Given the description of an element on the screen output the (x, y) to click on. 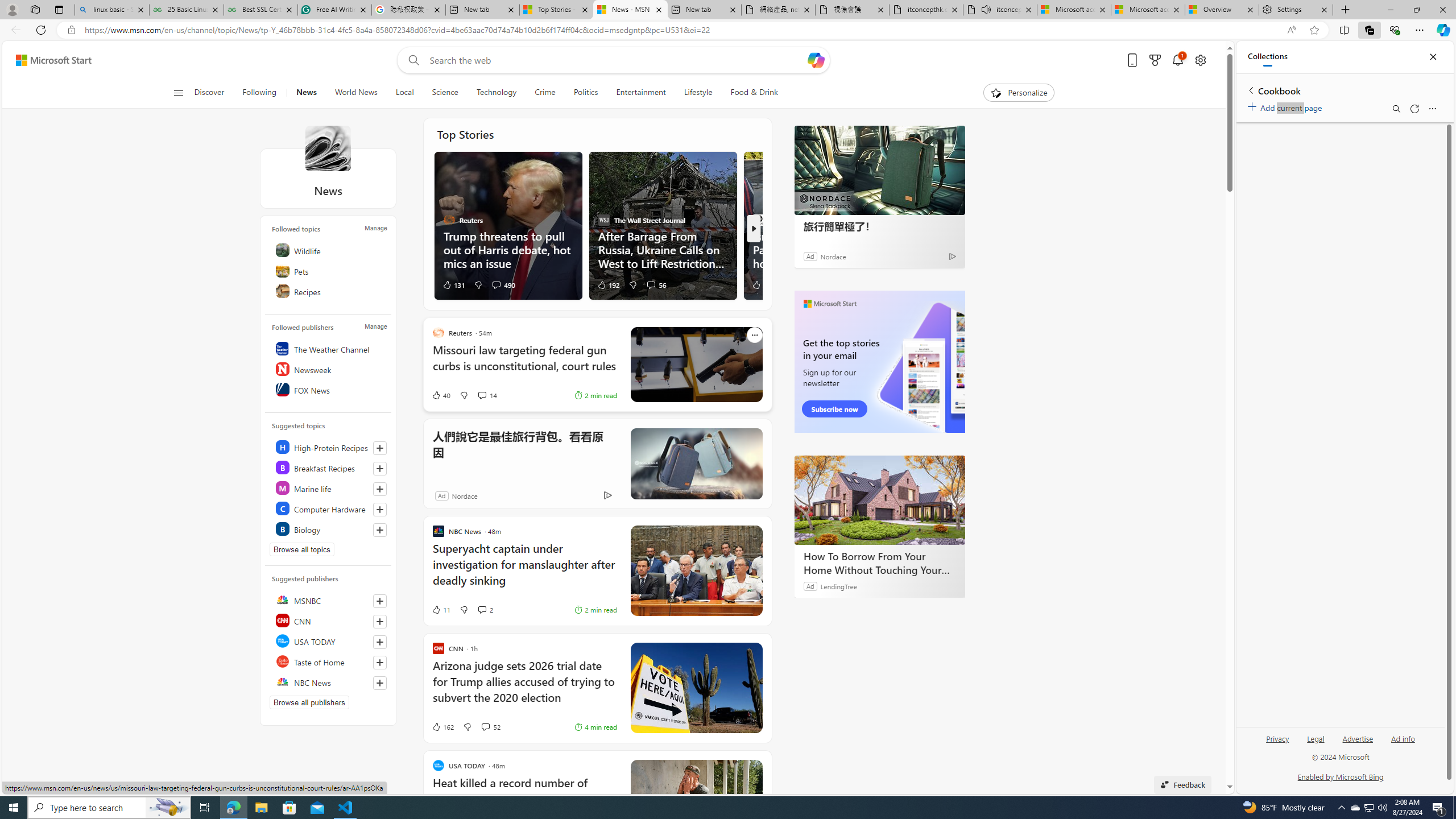
View comments 14 Comment (481, 394)
itconcepthk.com/projector_solutions.mp4 - Audio playing (1000, 9)
View comments 52 Comment (490, 726)
